Given the description of an element on the screen output the (x, y) to click on. 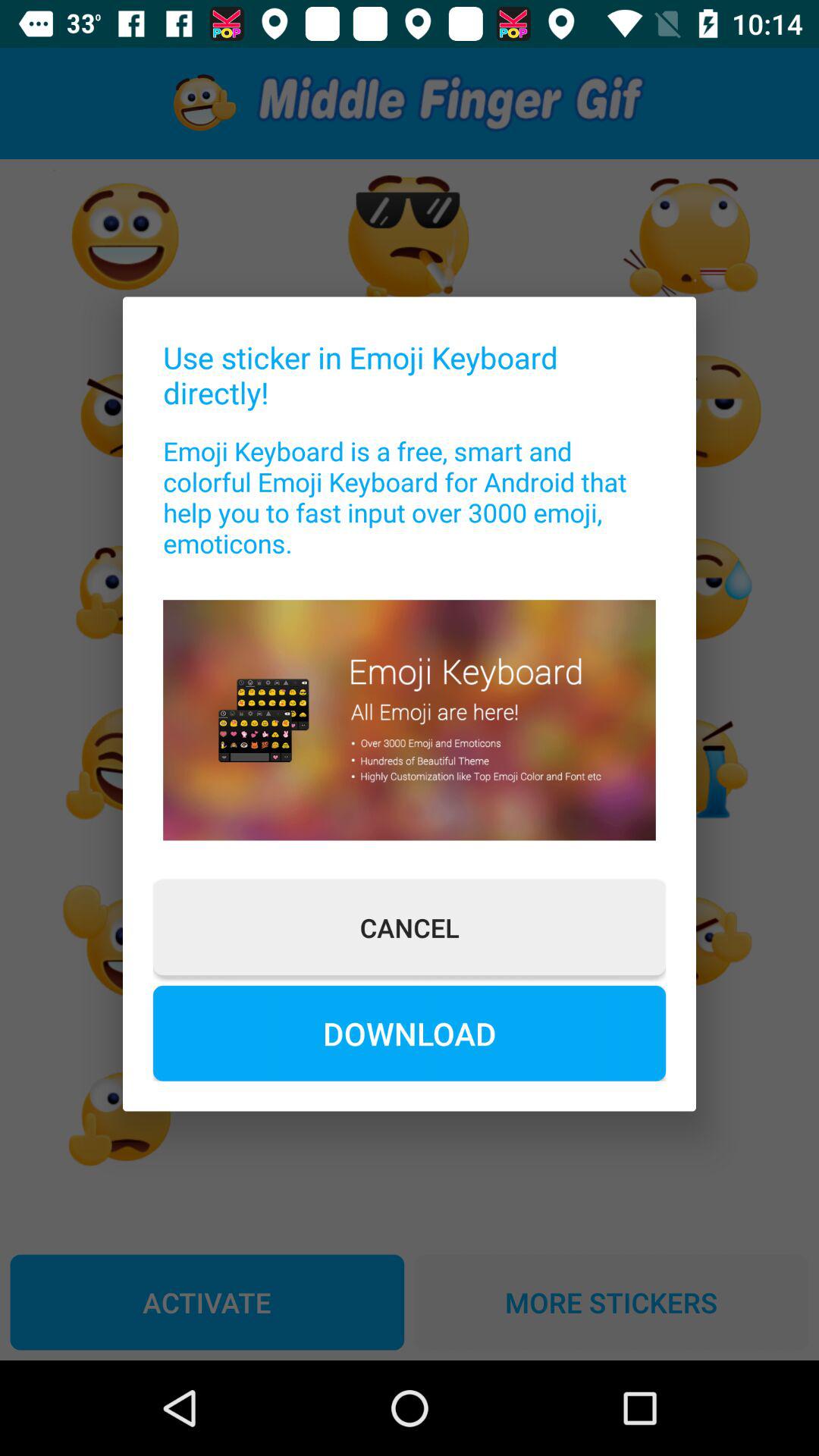
turn off the cancel item (409, 927)
